Given the description of an element on the screen output the (x, y) to click on. 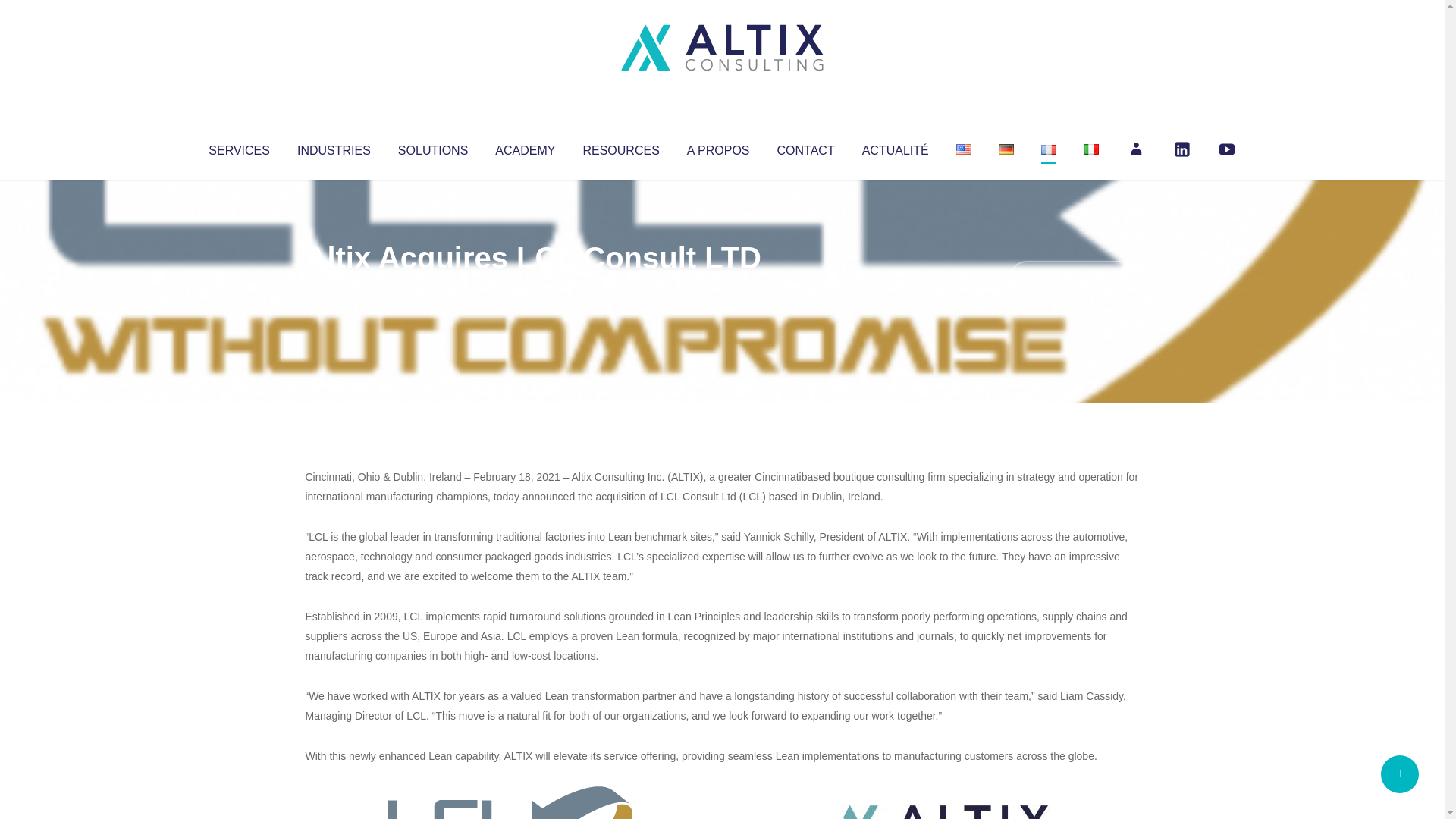
SOLUTIONS (432, 146)
A PROPOS (718, 146)
Uncategorized (530, 287)
SERVICES (238, 146)
INDUSTRIES (334, 146)
ACADEMY (524, 146)
No Comments (1073, 278)
RESOURCES (620, 146)
Altix (333, 287)
Articles par Altix (333, 287)
